Given the description of an element on the screen output the (x, y) to click on. 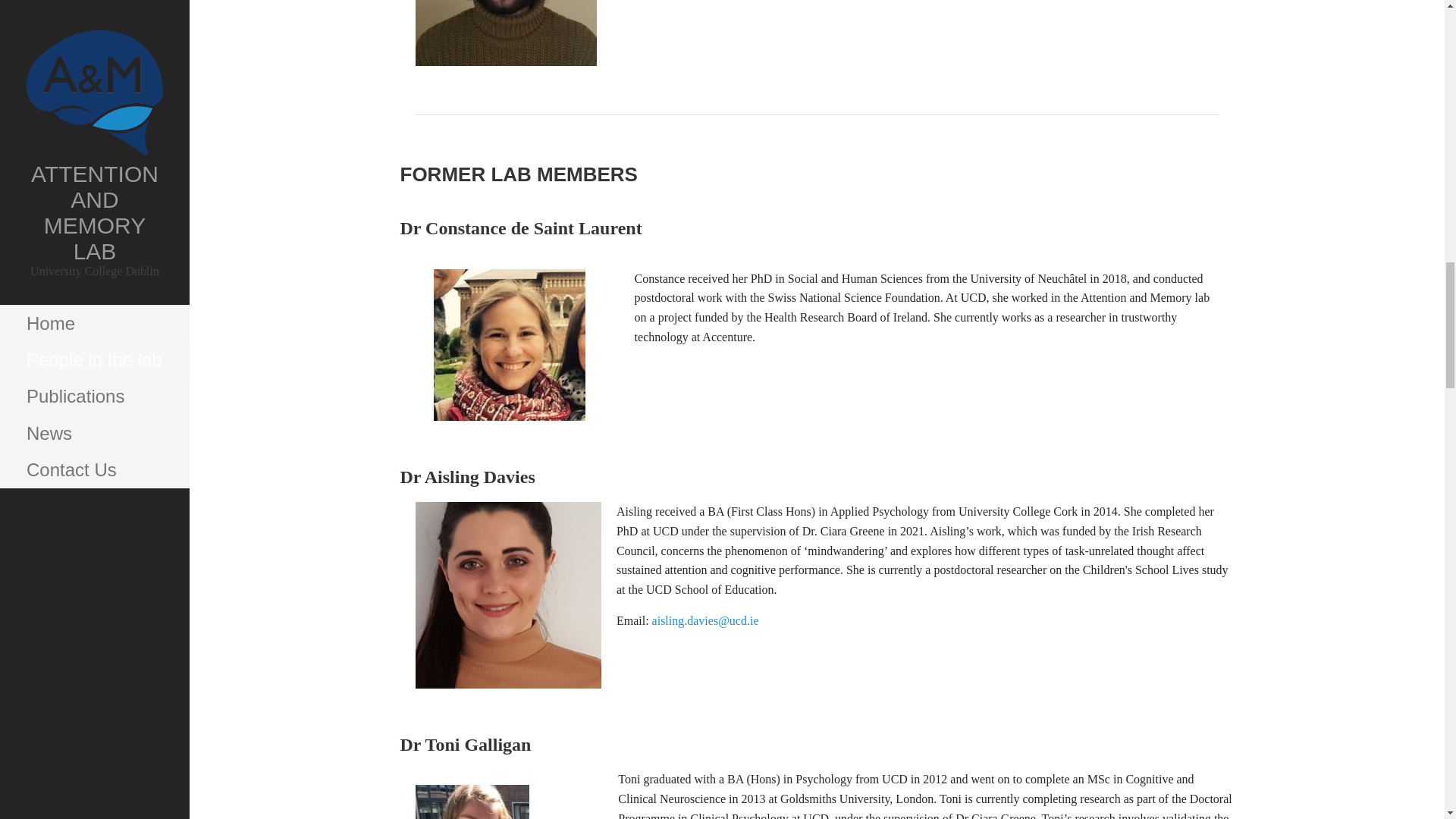
Aisling-Davies (507, 594)
Omar (505, 32)
Constance (509, 344)
Photo for Ciara's Website (471, 801)
